Given the description of an element on the screen output the (x, y) to click on. 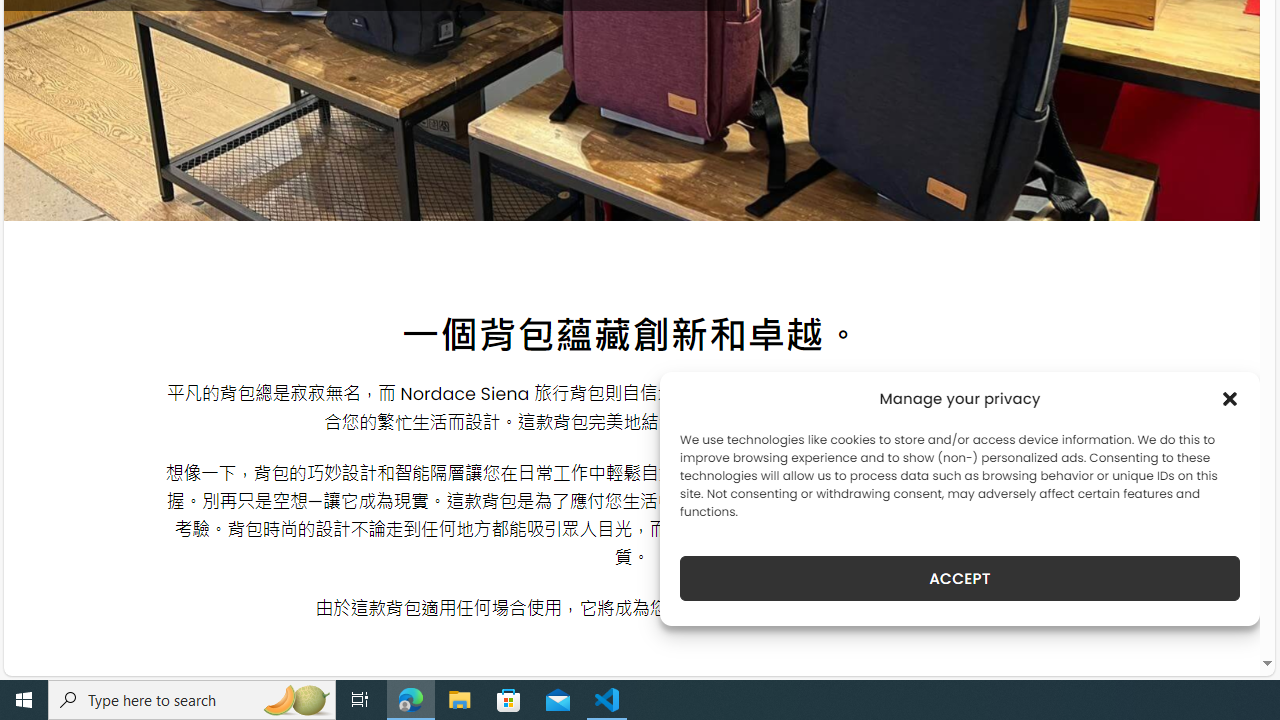
ACCEPT (959, 578)
Class: cmplz-close (1229, 398)
